Given the description of an element on the screen output the (x, y) to click on. 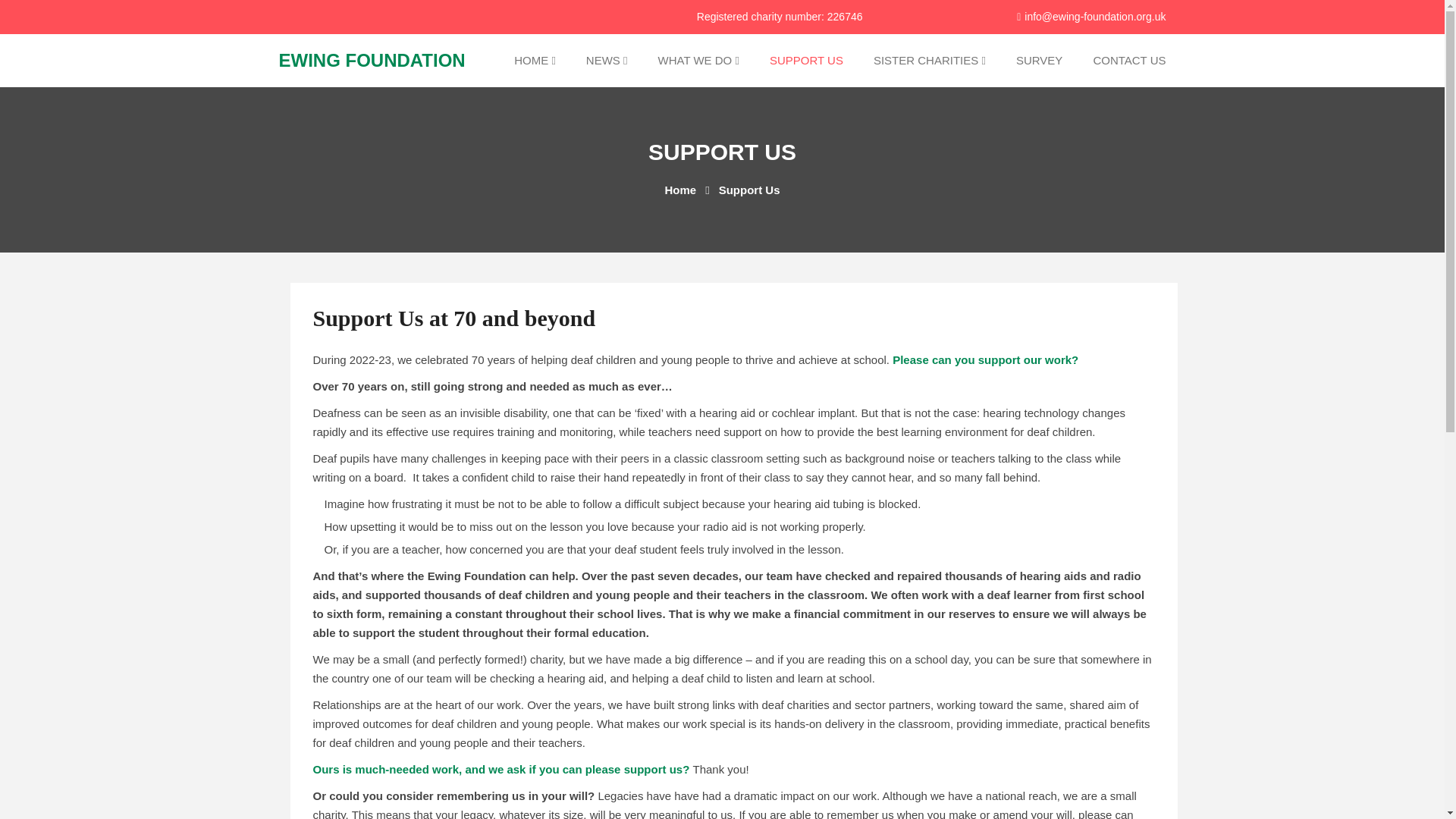
Home (534, 60)
WHAT WE DO (698, 60)
NEWS (606, 60)
News (606, 60)
EWING FOUNDATION (372, 59)
HOME (534, 60)
What We Do (698, 60)
